Given the description of an element on the screen output the (x, y) to click on. 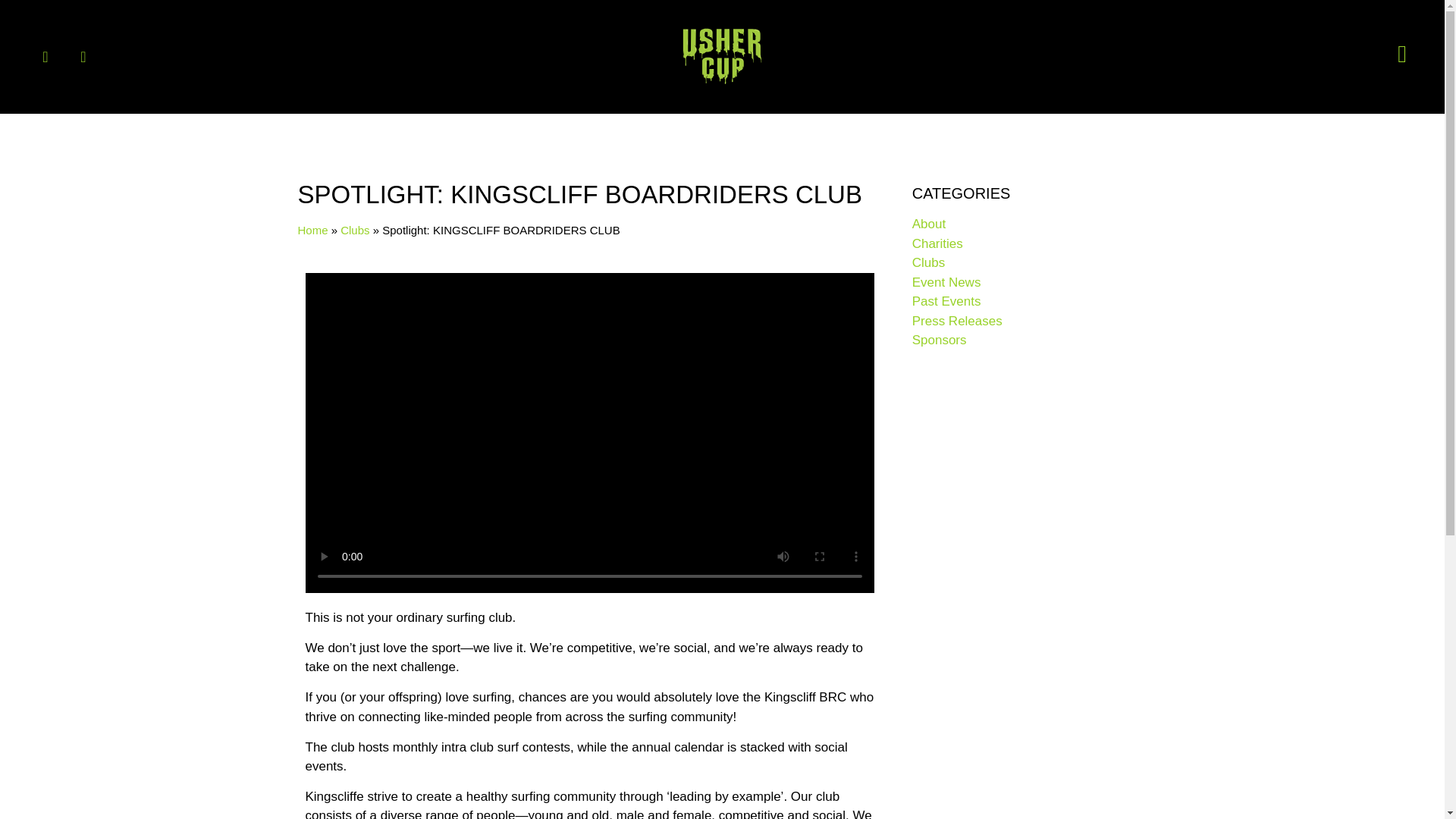
Sponsors (939, 339)
About (928, 223)
Event News (946, 281)
Charities (937, 243)
Press Releases (957, 320)
Home (312, 229)
Clubs (354, 229)
Clubs (928, 262)
Past Events (946, 301)
